Given the description of an element on the screen output the (x, y) to click on. 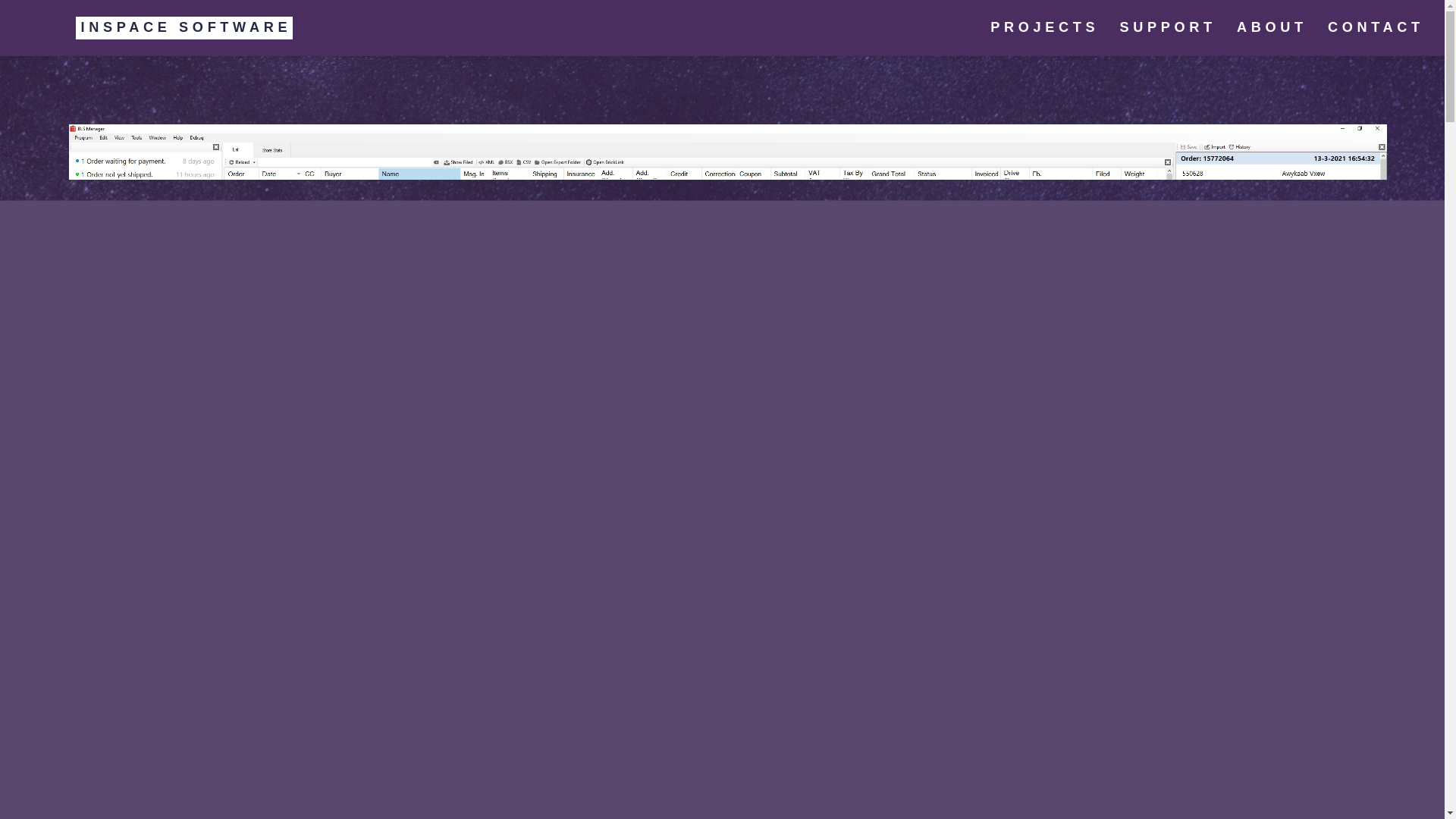
SUPPORT (1167, 28)
PROJECTS (1044, 28)
INSPACE SOFTWARE (159, 28)
ABOUT (1271, 28)
